Given the description of an element on the screen output the (x, y) to click on. 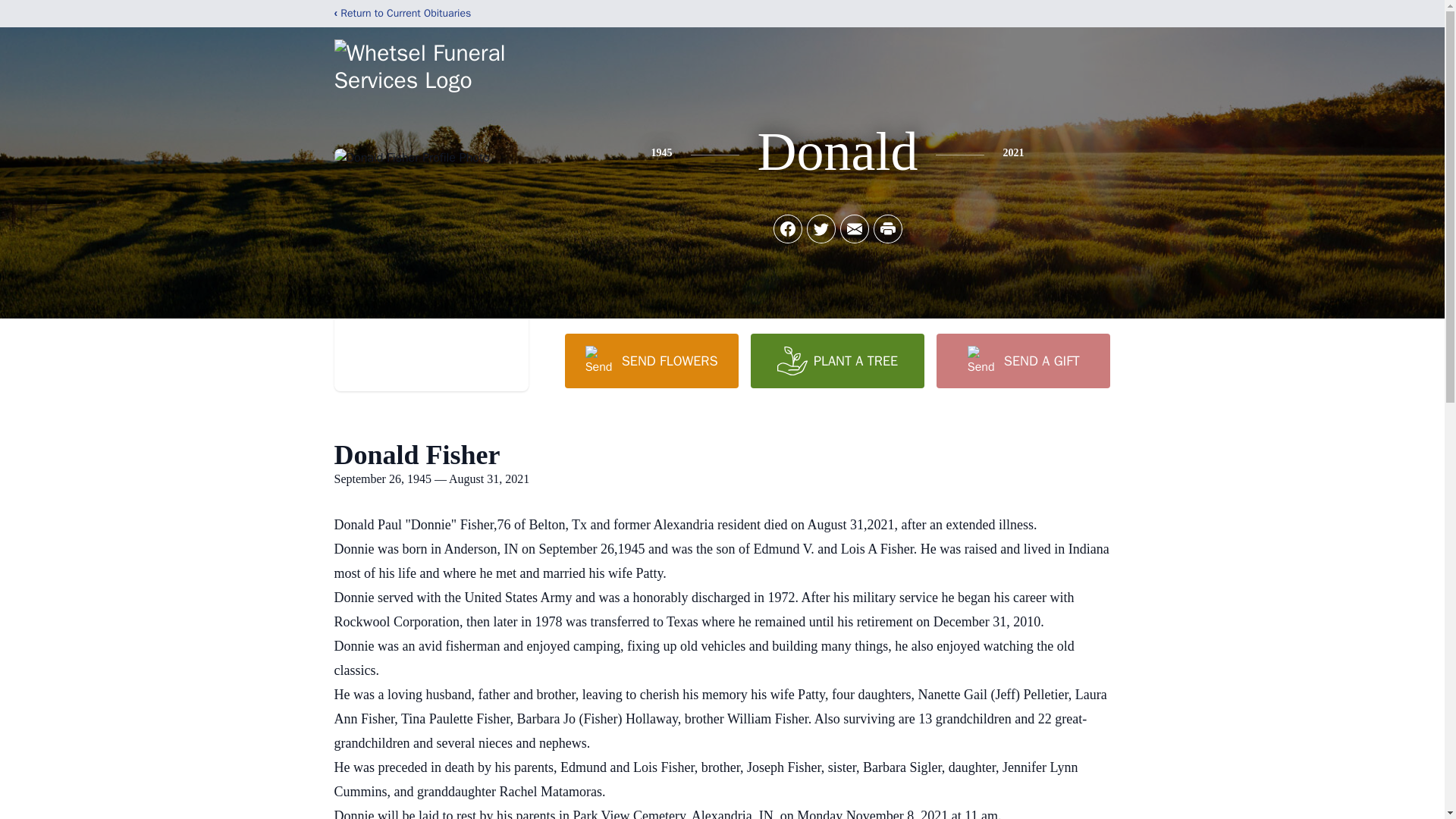
PLANT A TREE (837, 360)
SEND A GIFT (1022, 360)
SEND FLOWERS (651, 360)
